Given the description of an element on the screen output the (x, y) to click on. 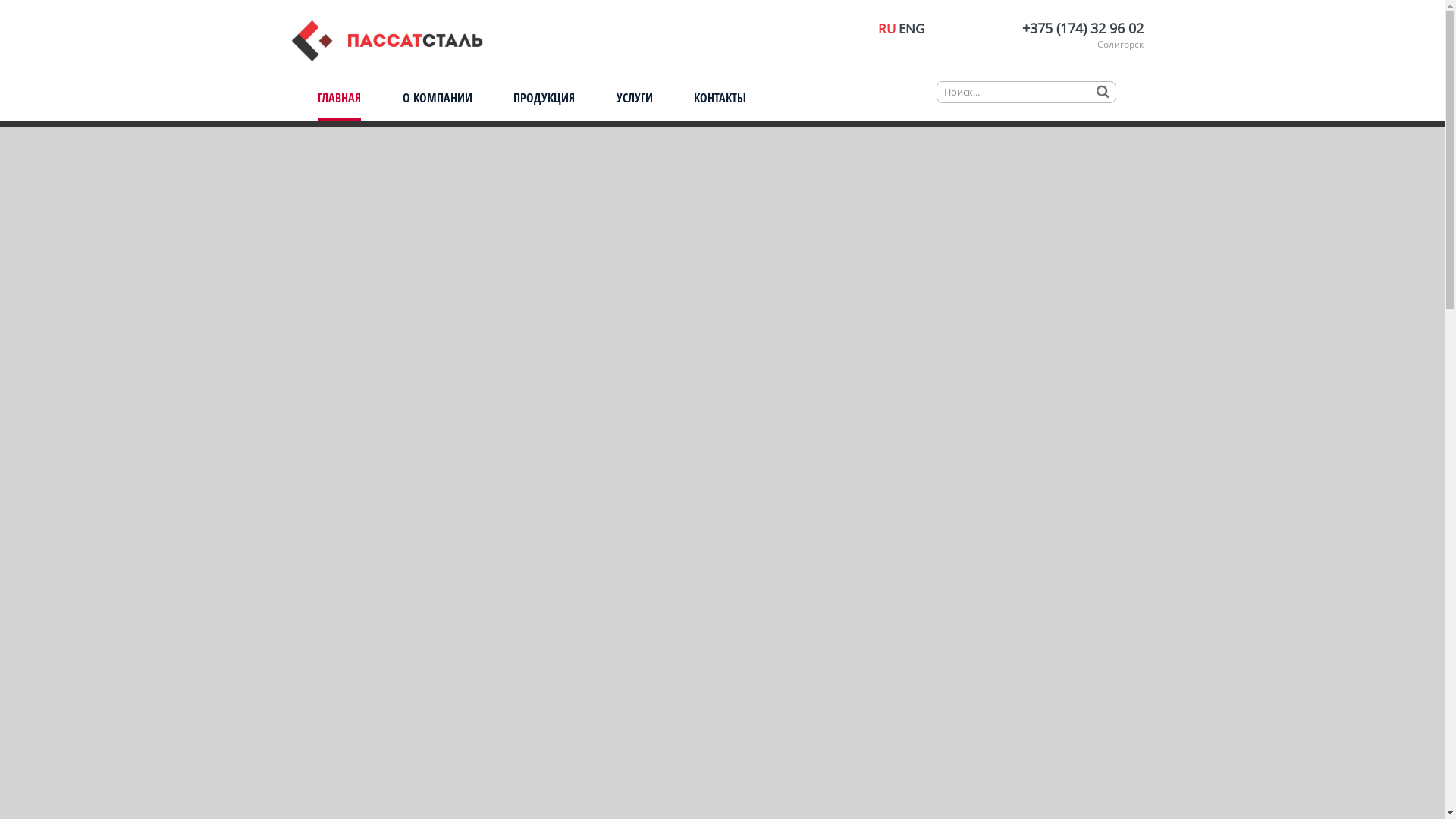
+375 (174) 32 96 02 Element type: text (1082, 27)
ENG Element type: text (910, 28)
